Given the description of an element on the screen output the (x, y) to click on. 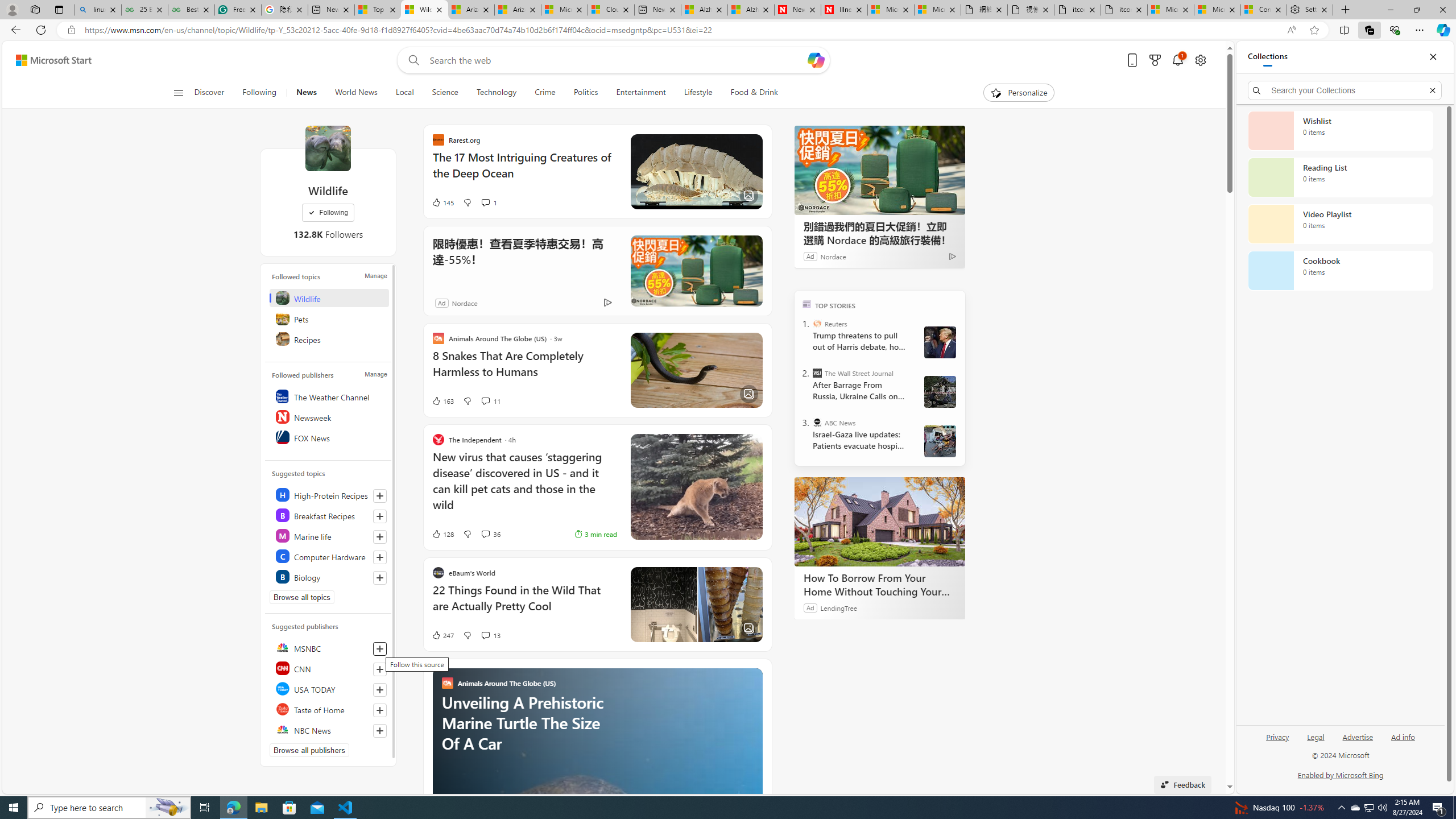
Taste of Home (328, 709)
Browse all publishers (309, 749)
Reuters (816, 323)
Wildlife (328, 298)
